Given the description of an element on the screen output the (x, y) to click on. 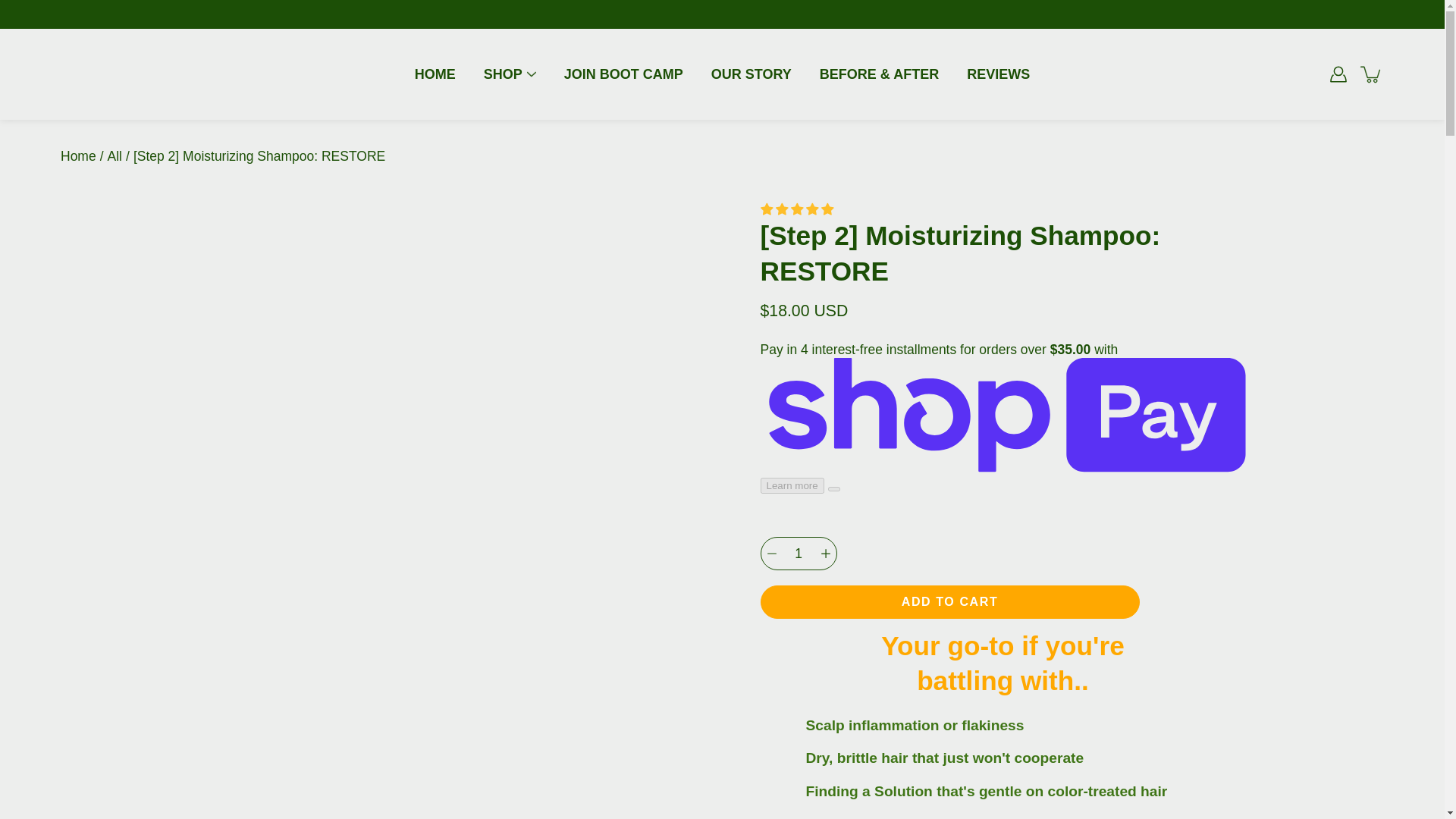
SHOP (502, 74)
Back to the Homepage (78, 155)
JOIN BOOT CAMP (623, 74)
1 (797, 553)
OUR STORY (751, 74)
HOME (434, 74)
REVIEWS (997, 74)
